Given the description of an element on the screen output the (x, y) to click on. 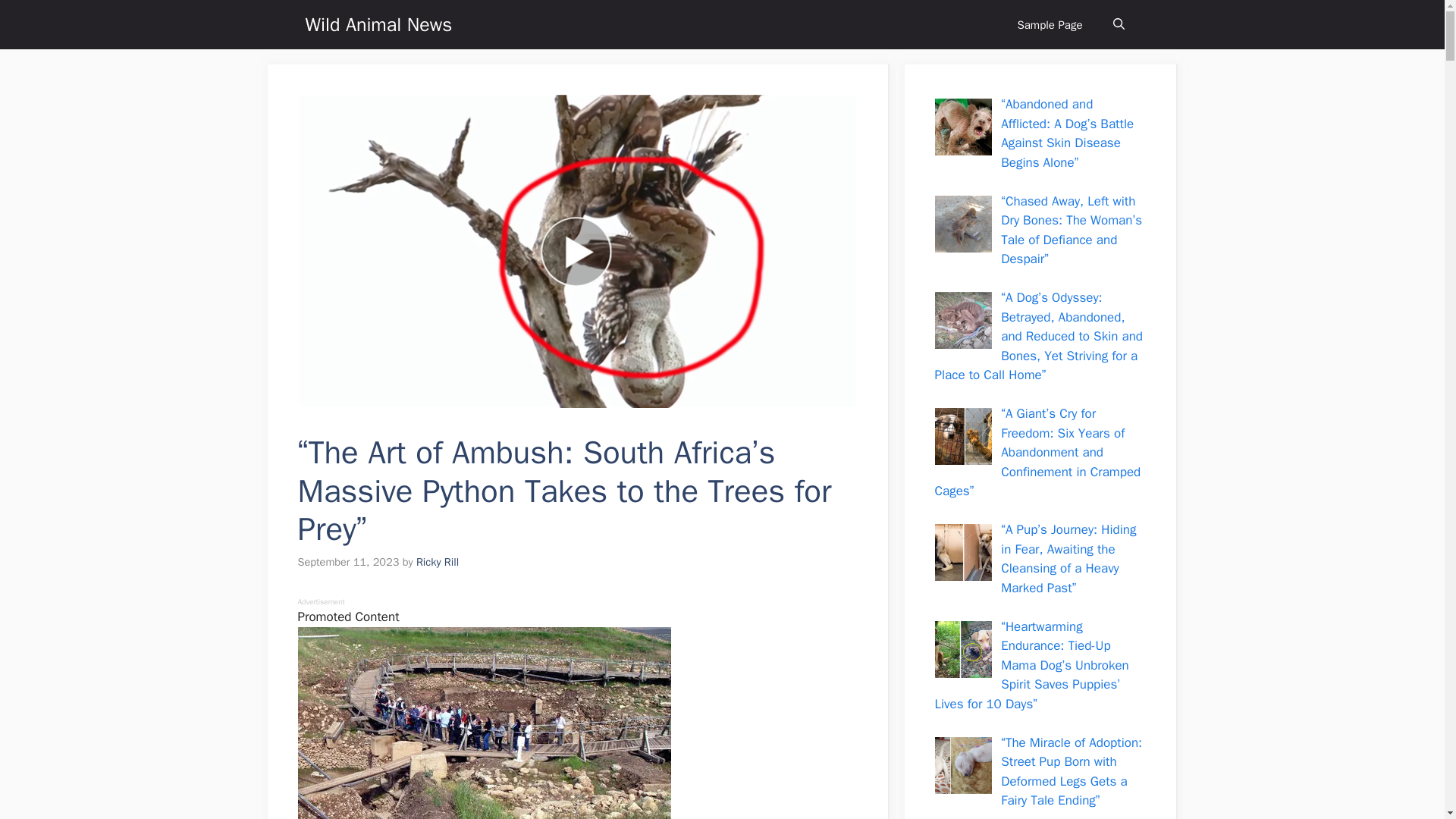
View all posts by Ricky Rill (437, 561)
Wild Animal News (377, 24)
Sample Page (1050, 23)
Ricky Rill (437, 561)
